Given the description of an element on the screen output the (x, y) to click on. 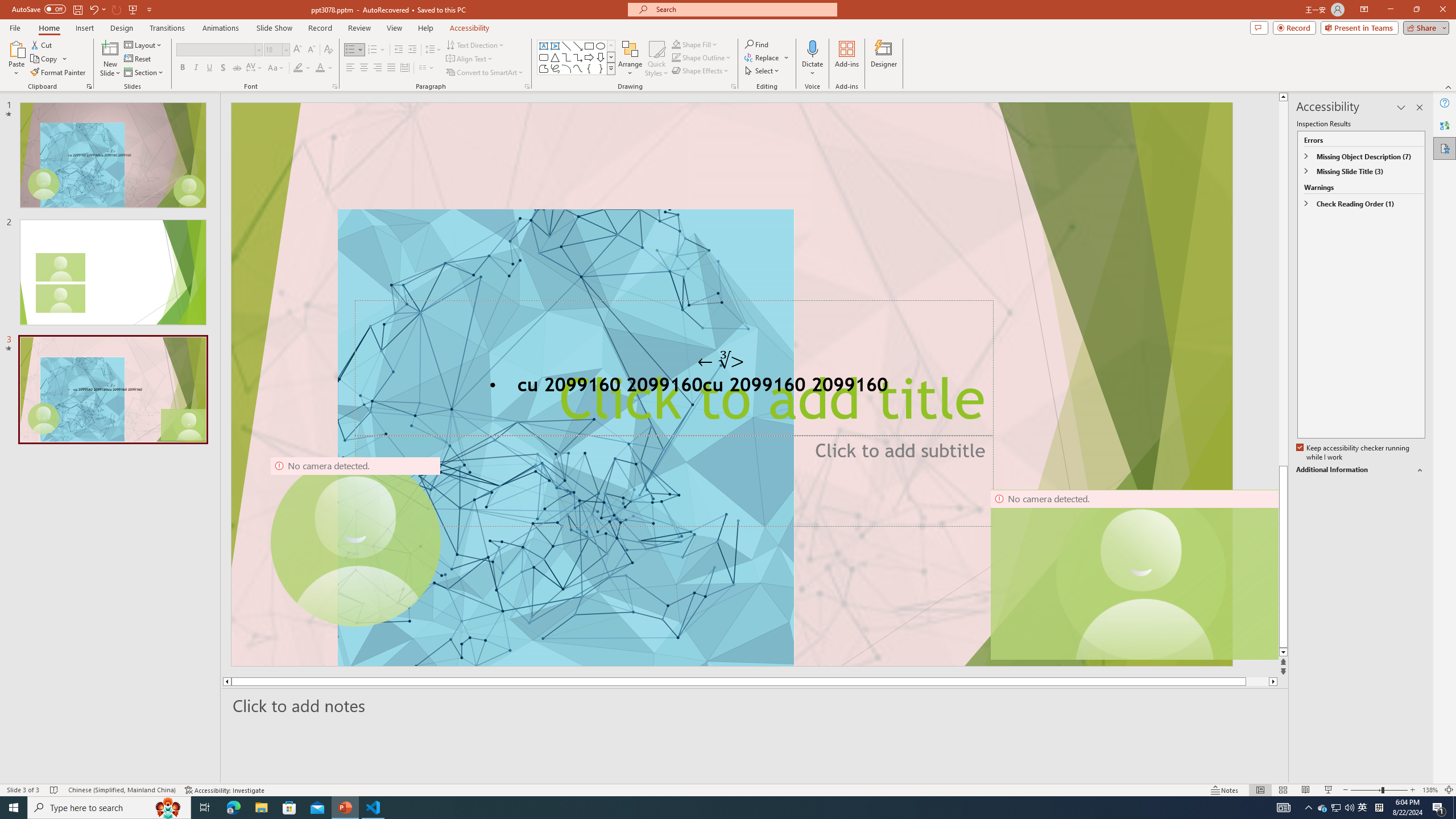
TextBox 7 (720, 360)
